Given the description of an element on the screen output the (x, y) to click on. 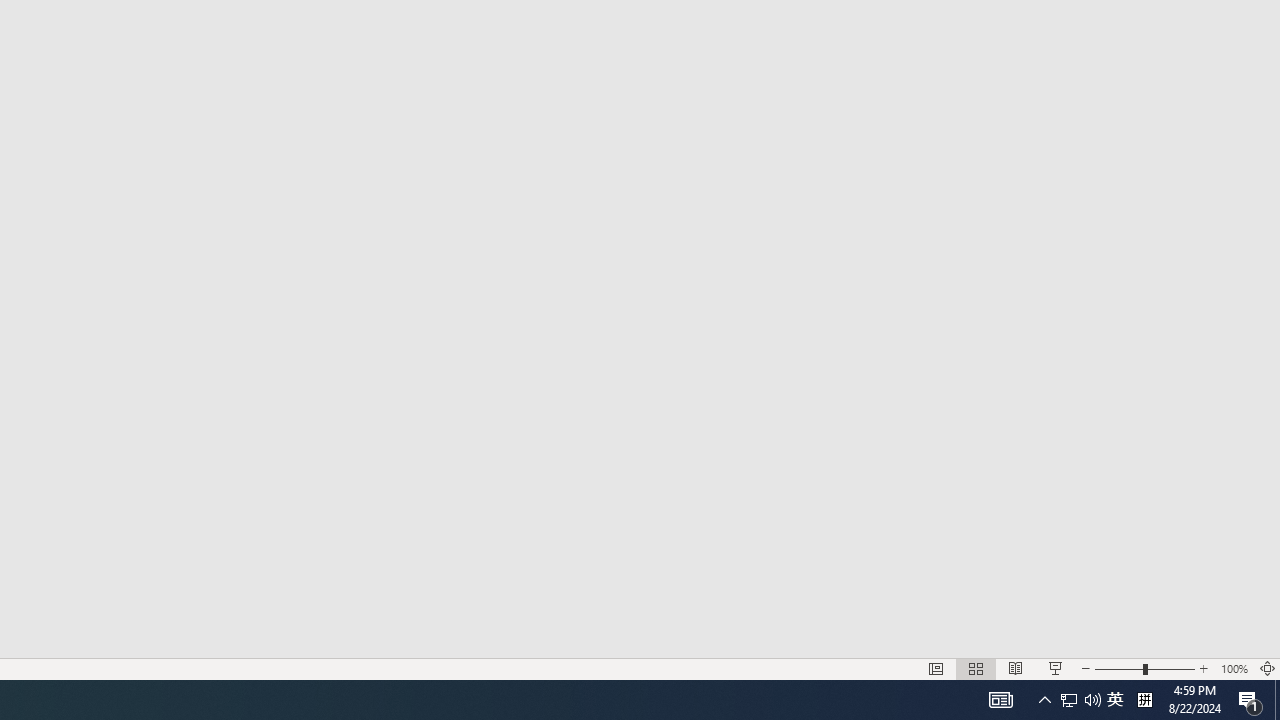
Zoom 100% (1234, 668)
